Given the description of an element on the screen output the (x, y) to click on. 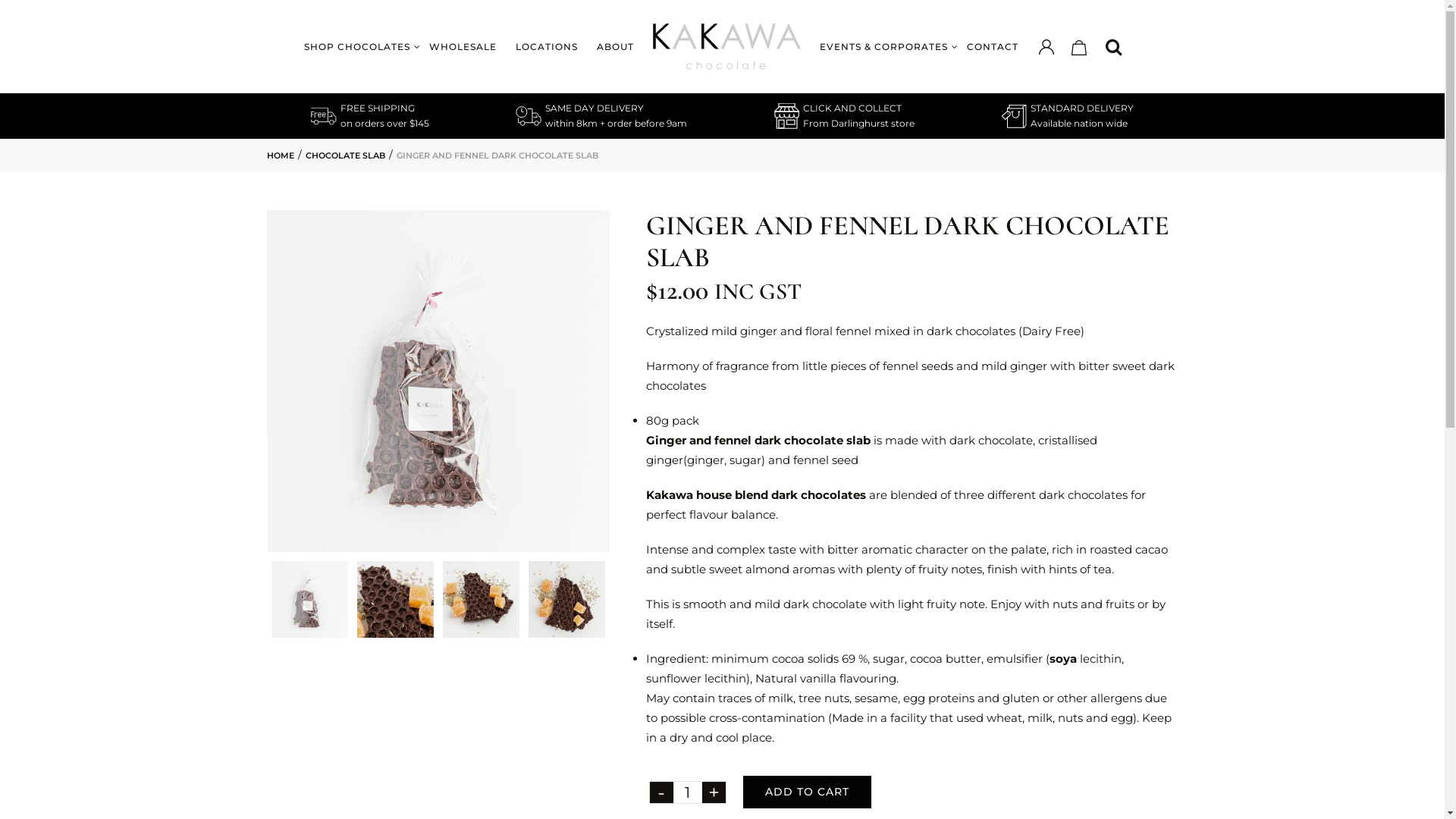
HOME Element type: text (280, 155)
CHOCOLATE SLAB Element type: text (345, 155)
EVENTS & CORPORATES Element type: text (883, 46)
ADD TO CART Element type: text (807, 791)
Search Element type: hover (1113, 46)
SHOP CHOCOLATES Element type: text (356, 46)
LOCATIONS Element type: text (546, 46)
ABOUT Element type: text (614, 46)
ginger and fennel slab Element type: hover (438, 381)
WHOLESALE Element type: text (462, 46)
CONTACT Element type: text (991, 46)
